Given the description of an element on the screen output the (x, y) to click on. 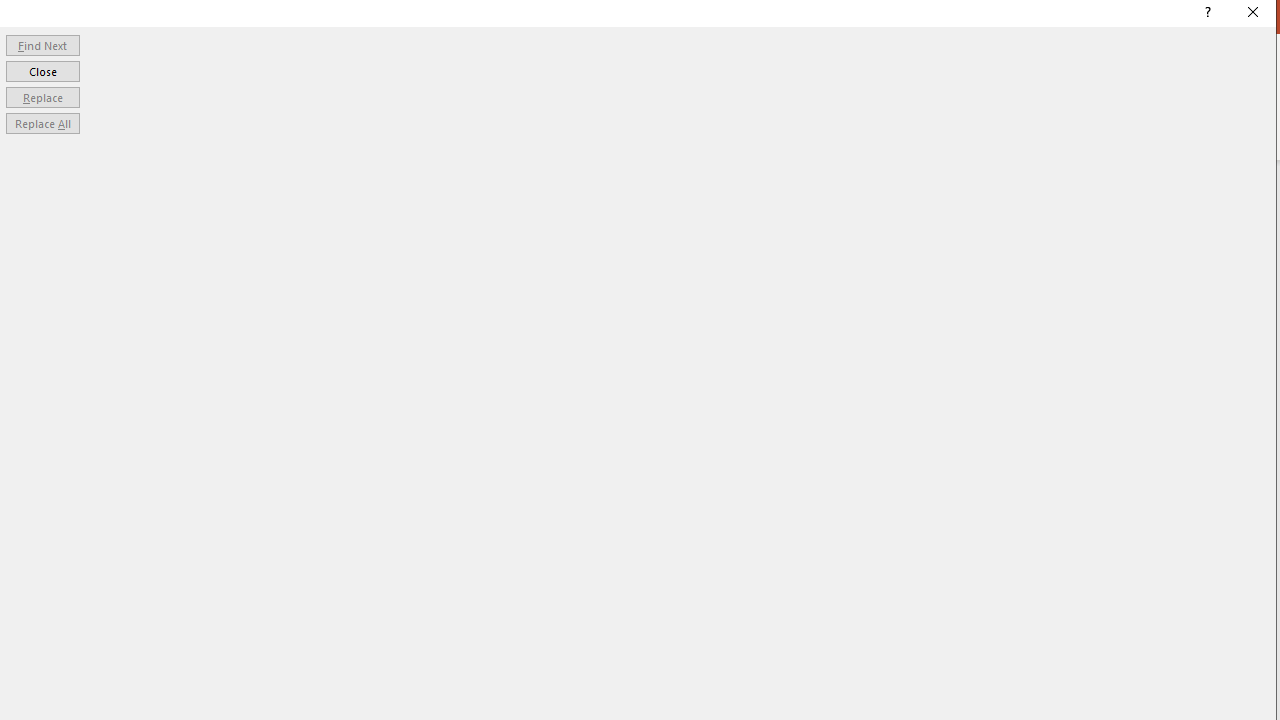
Replace (42, 96)
Find Next (42, 44)
Replace All (42, 123)
Context help (1206, 14)
